Given the description of an element on the screen output the (x, y) to click on. 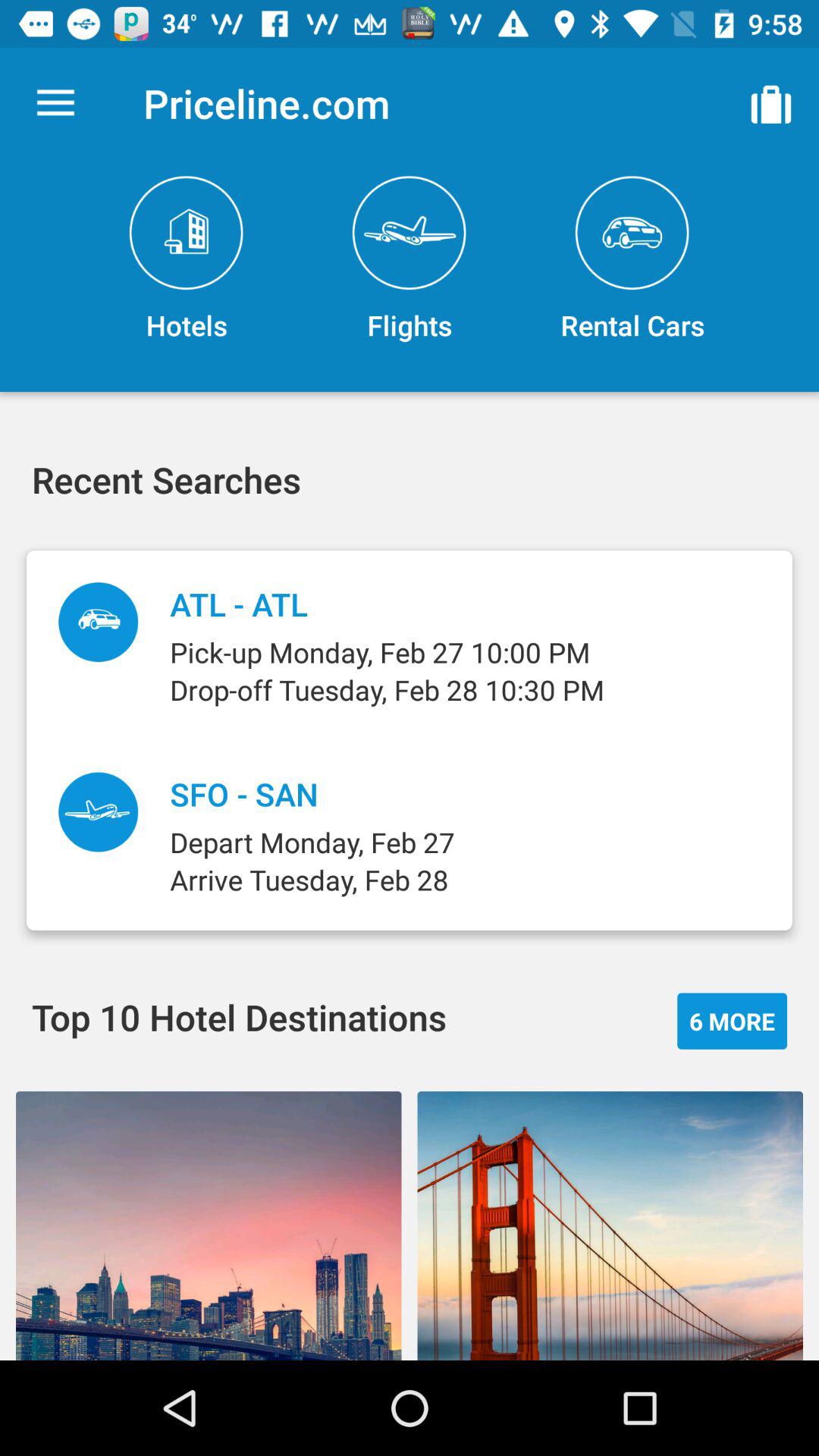
press item above pick up monday item (631, 259)
